Given the description of an element on the screen output the (x, y) to click on. 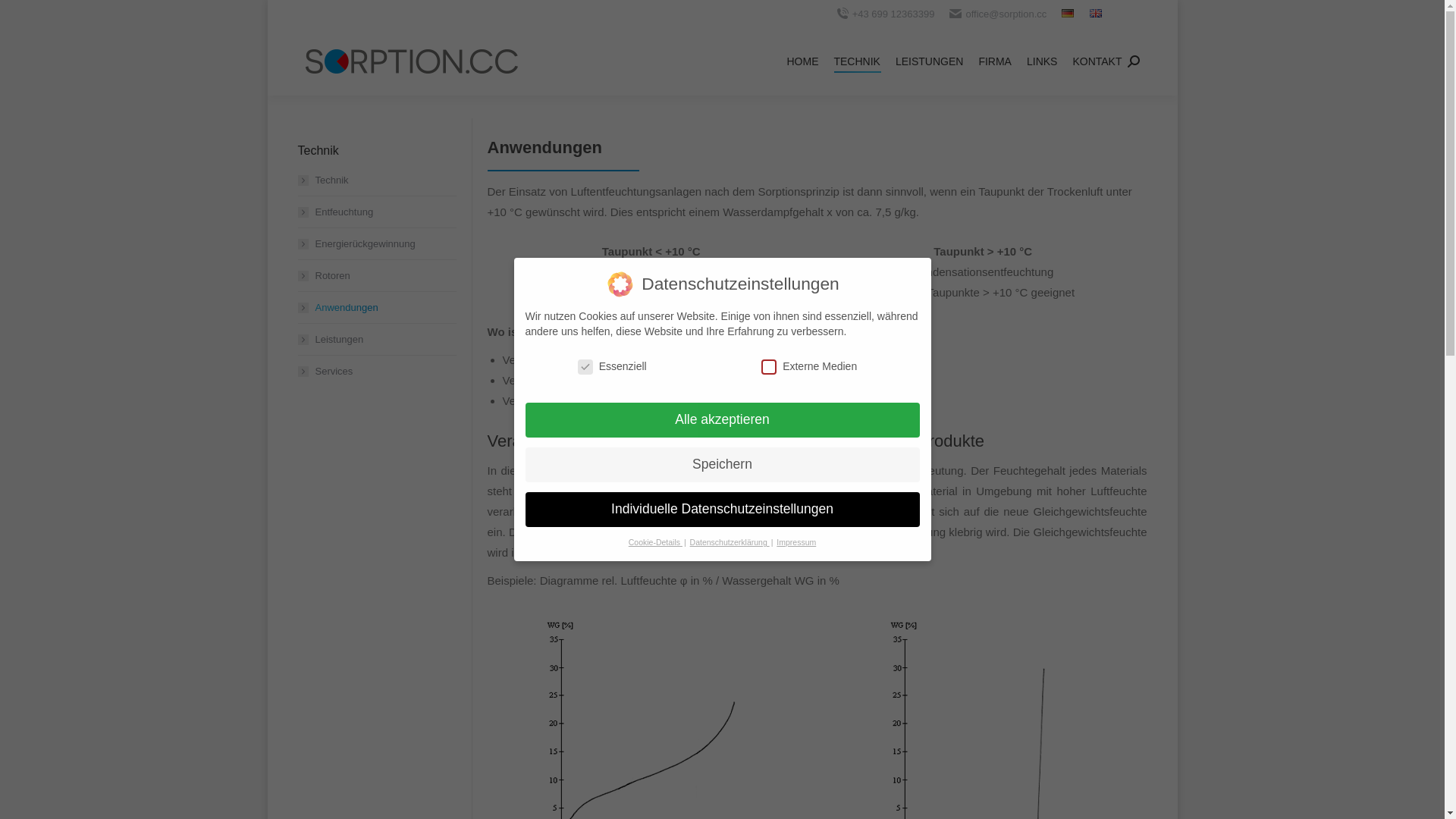
TECHNIK Element type: text (856, 60)
Technik Element type: text (322, 180)
KONTAKT Element type: text (1096, 60)
Individuelle Datenschutzeinstellungen Element type: text (721, 509)
Speichern Element type: text (721, 464)
office@sorption.cc Element type: text (1005, 13)
Services Element type: text (324, 371)
FIRMA Element type: text (994, 60)
Los! Element type: text (26, 16)
LINKS Element type: text (1041, 60)
Cookie-Details Element type: text (655, 541)
+43 699 12363399 Element type: text (893, 13)
HOME Element type: text (801, 60)
Rotoren Element type: text (323, 275)
Alle akzeptieren Element type: text (721, 419)
LEISTUNGEN Element type: text (929, 60)
Leistungen Element type: text (330, 339)
Impressum Element type: text (795, 541)
Anwendungen Element type: text (337, 307)
Entfeuchtung Element type: text (335, 211)
Sorptionsisothermen Element type: text (575, 552)
